Given the description of an element on the screen output the (x, y) to click on. 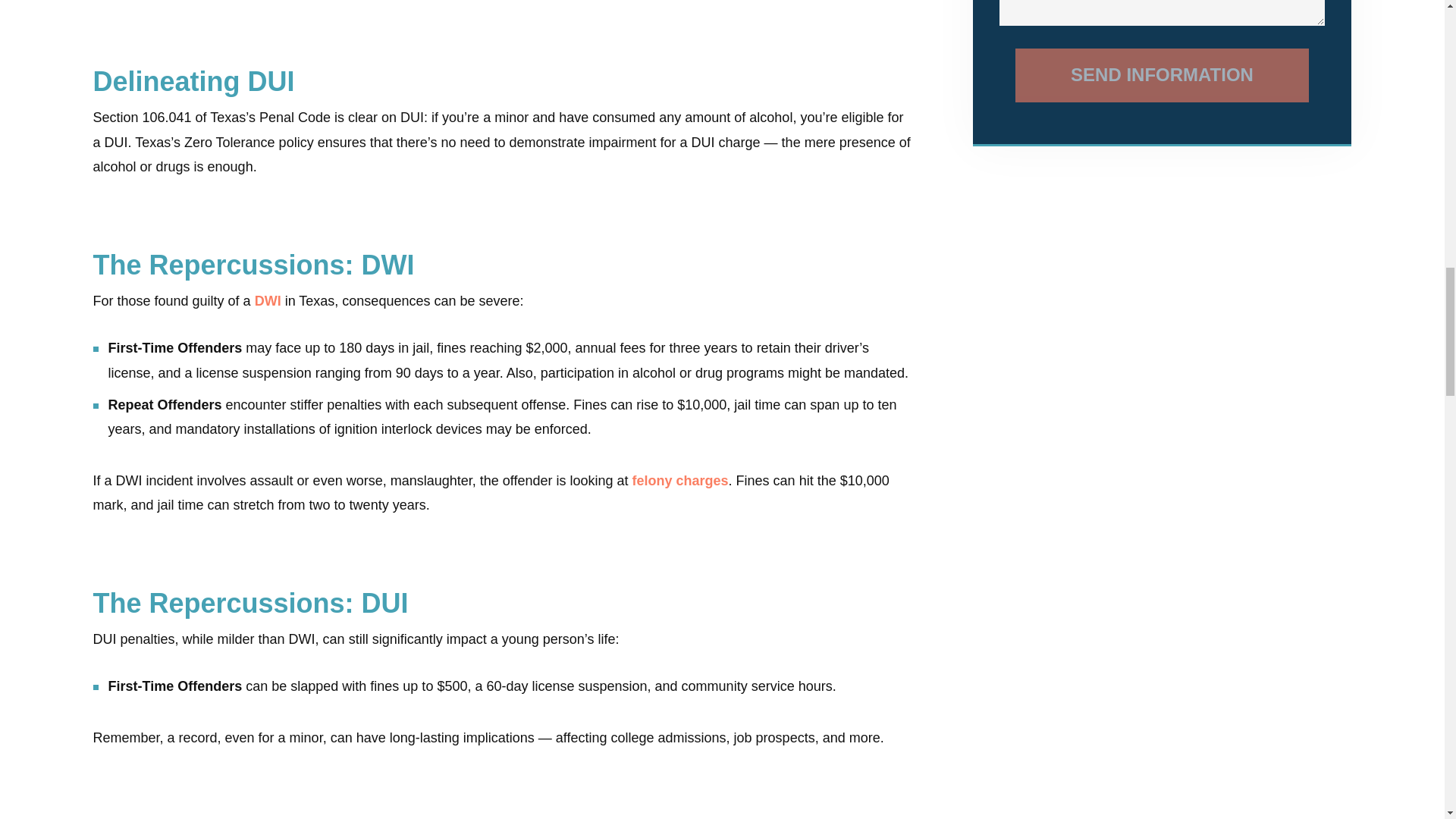
DWI (267, 300)
send information (1161, 75)
felony charges (680, 480)
